Given the description of an element on the screen output the (x, y) to click on. 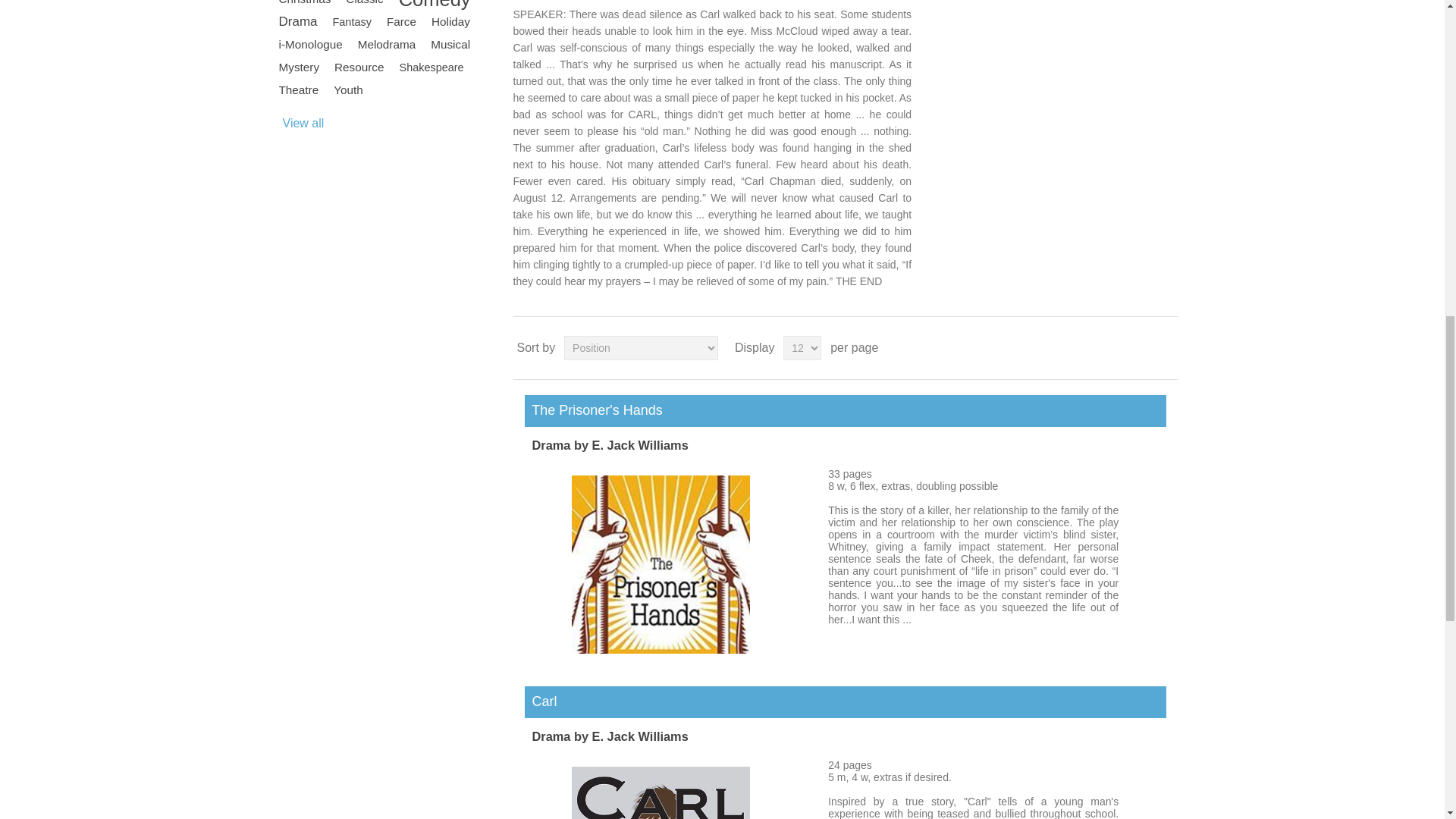
carl (660, 792)
prisoners-hands (660, 564)
prisoners-hands (660, 649)
